Given the description of an element on the screen output the (x, y) to click on. 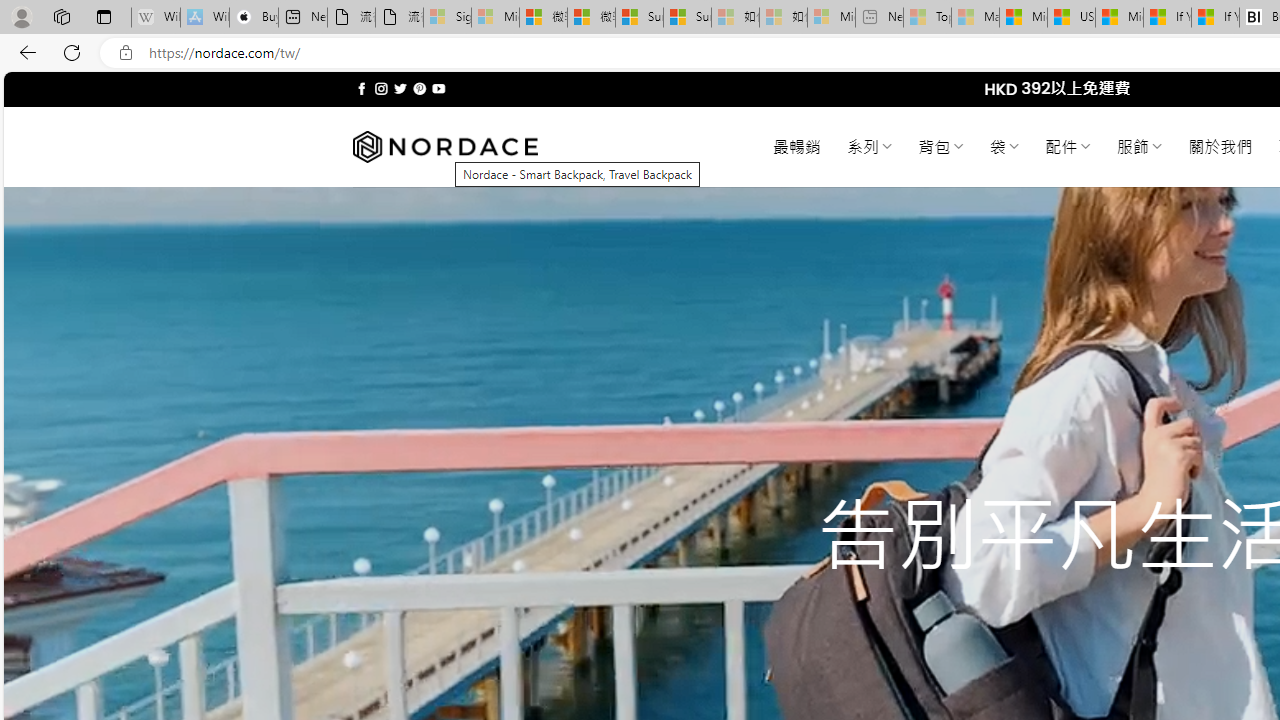
Follow on Pinterest (419, 88)
Follow on YouTube (438, 88)
Microsoft account | Account Checkup - Sleeping (831, 17)
